Given the description of an element on the screen output the (x, y) to click on. 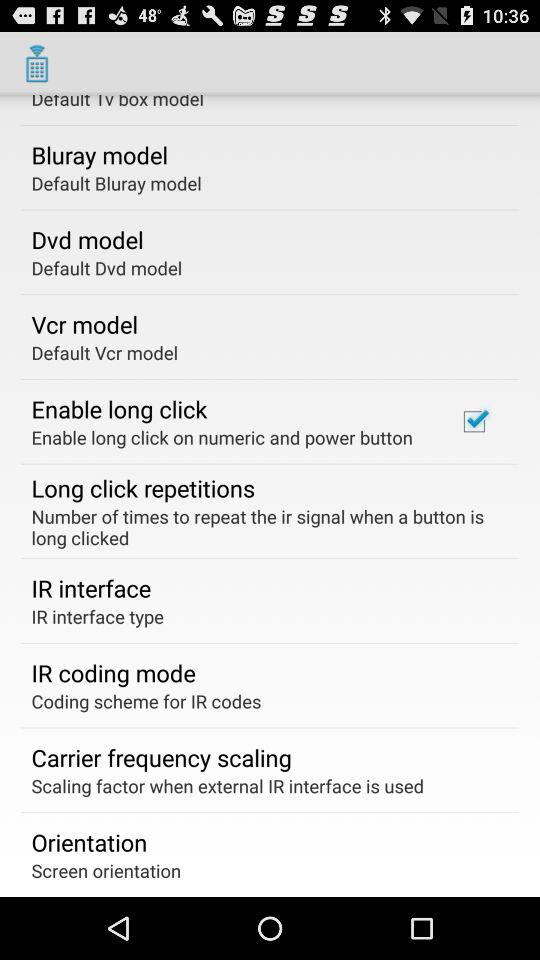
choose the item above scaling factor when app (161, 757)
